Given the description of an element on the screen output the (x, y) to click on. 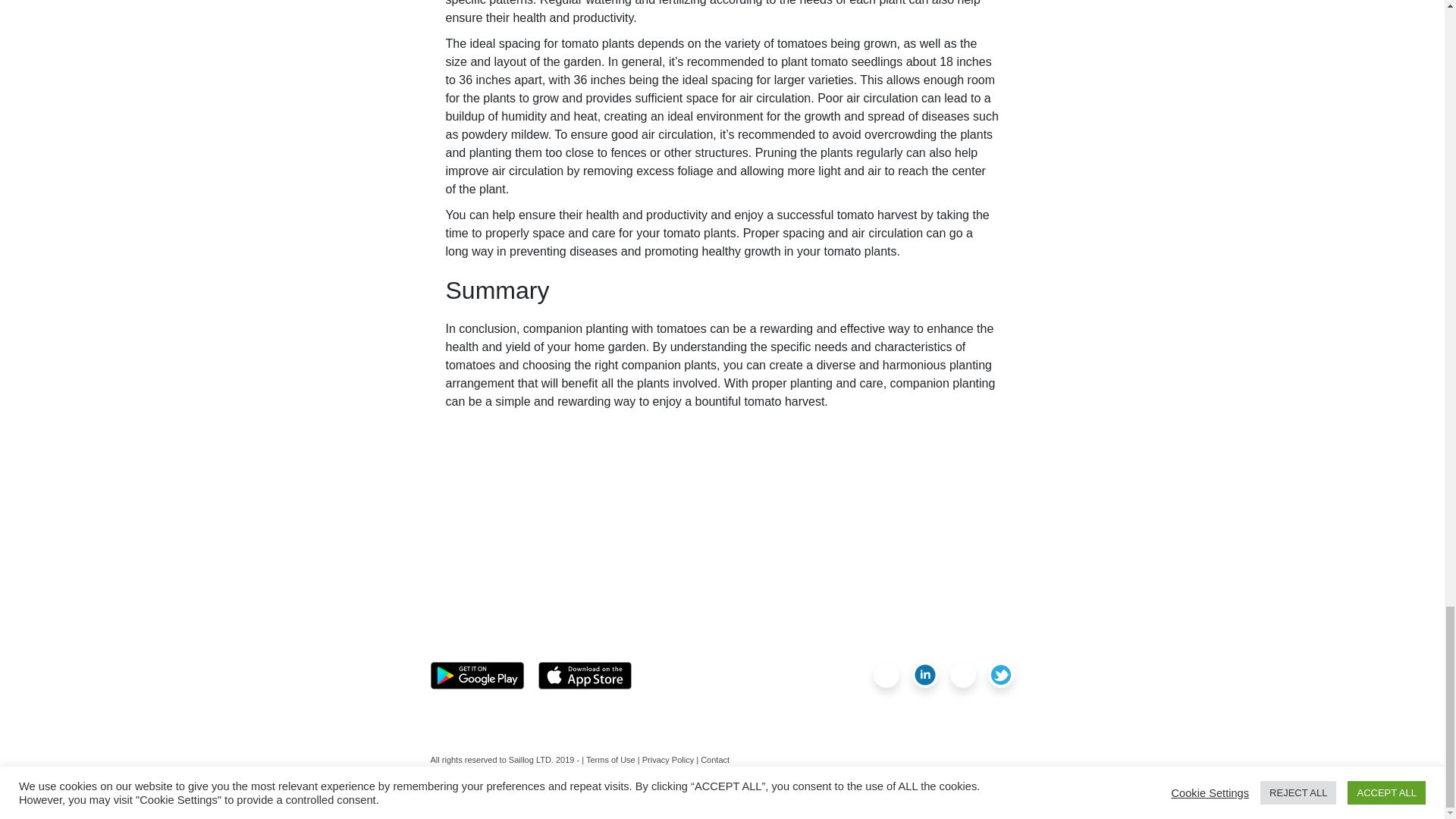
Contact (714, 759)
Terms of Use (610, 759)
Privacy Policy (668, 759)
